Given the description of an element on the screen output the (x, y) to click on. 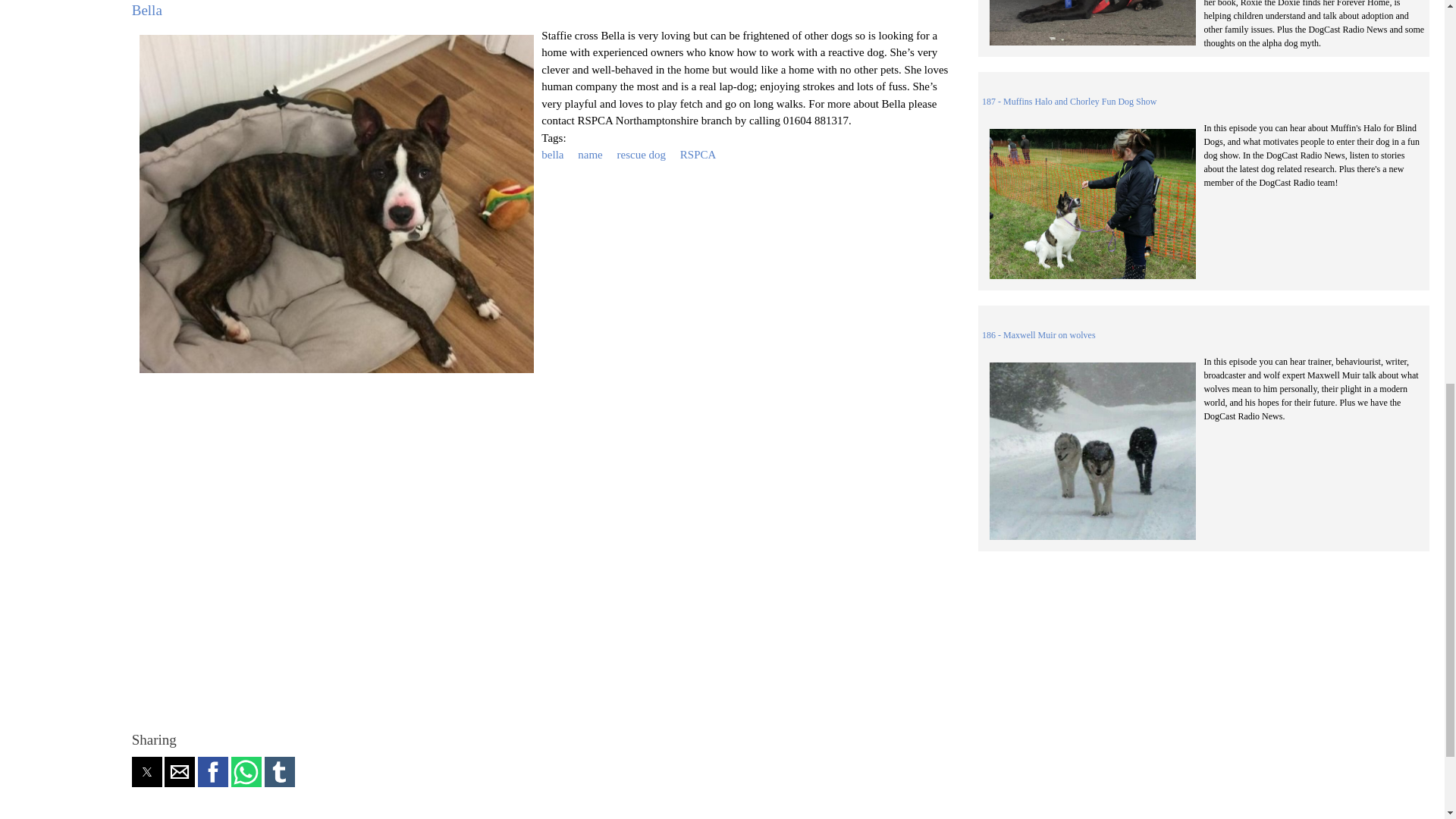
RSPCA (697, 154)
186 - Maxwell Muir on wolves (1038, 335)
rescue dog (640, 154)
name (590, 154)
187 - Muffins Halo and Chorley Fun Dog Show (1068, 101)
bella (552, 154)
Bella (146, 10)
